Given the description of an element on the screen output the (x, y) to click on. 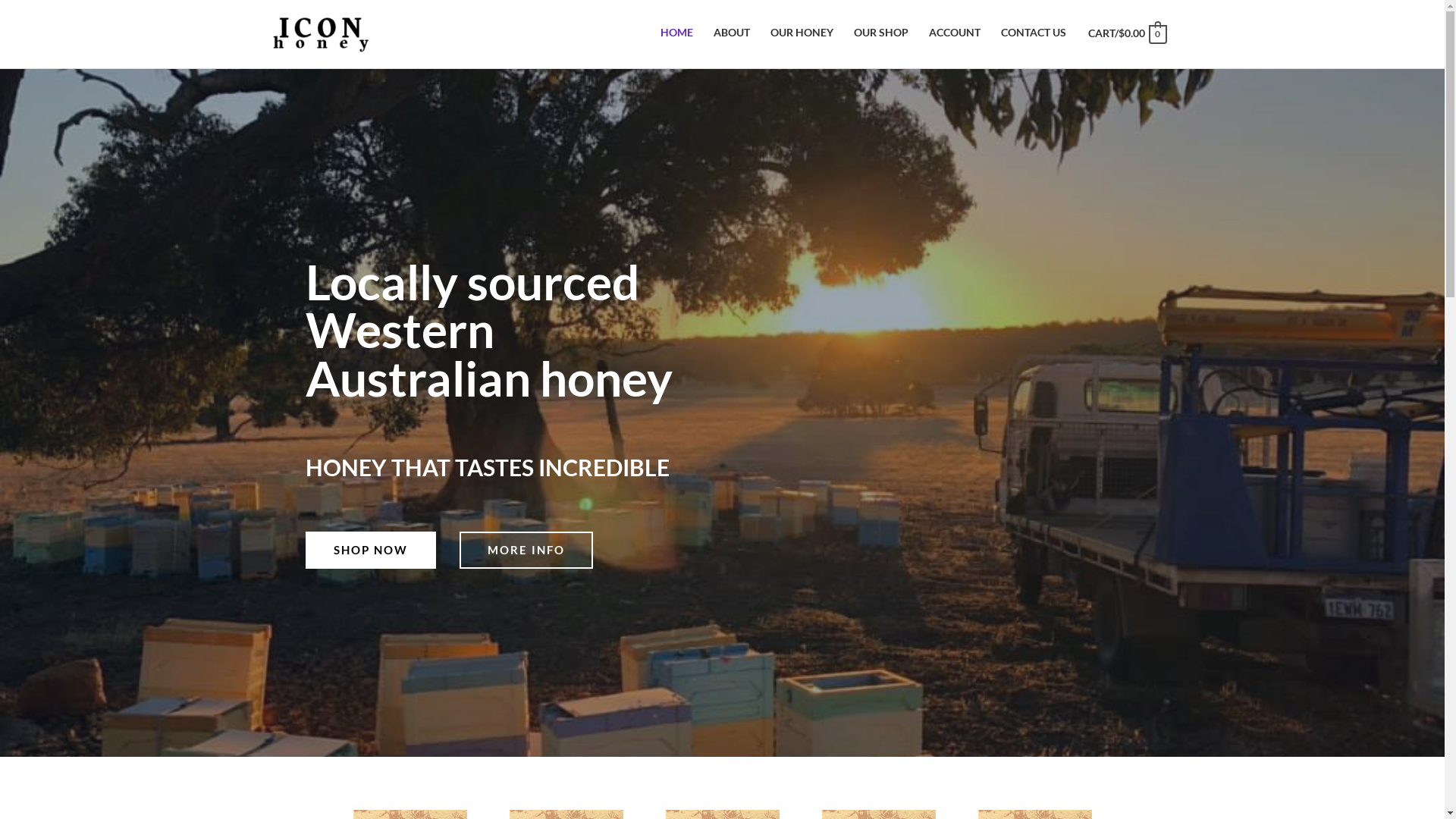
OUR HONEY Element type: text (801, 32)
ACCOUNT Element type: text (954, 32)
CONTACT US Element type: text (1033, 32)
HOME Element type: text (675, 32)
OUR SHOP Element type: text (880, 32)
SHOP NOW Element type: text (369, 549)
MORE INFO Element type: text (526, 549)
ABOUT Element type: text (730, 32)
CART/$0.00 0 Element type: text (1126, 33)
